Given the description of an element on the screen output the (x, y) to click on. 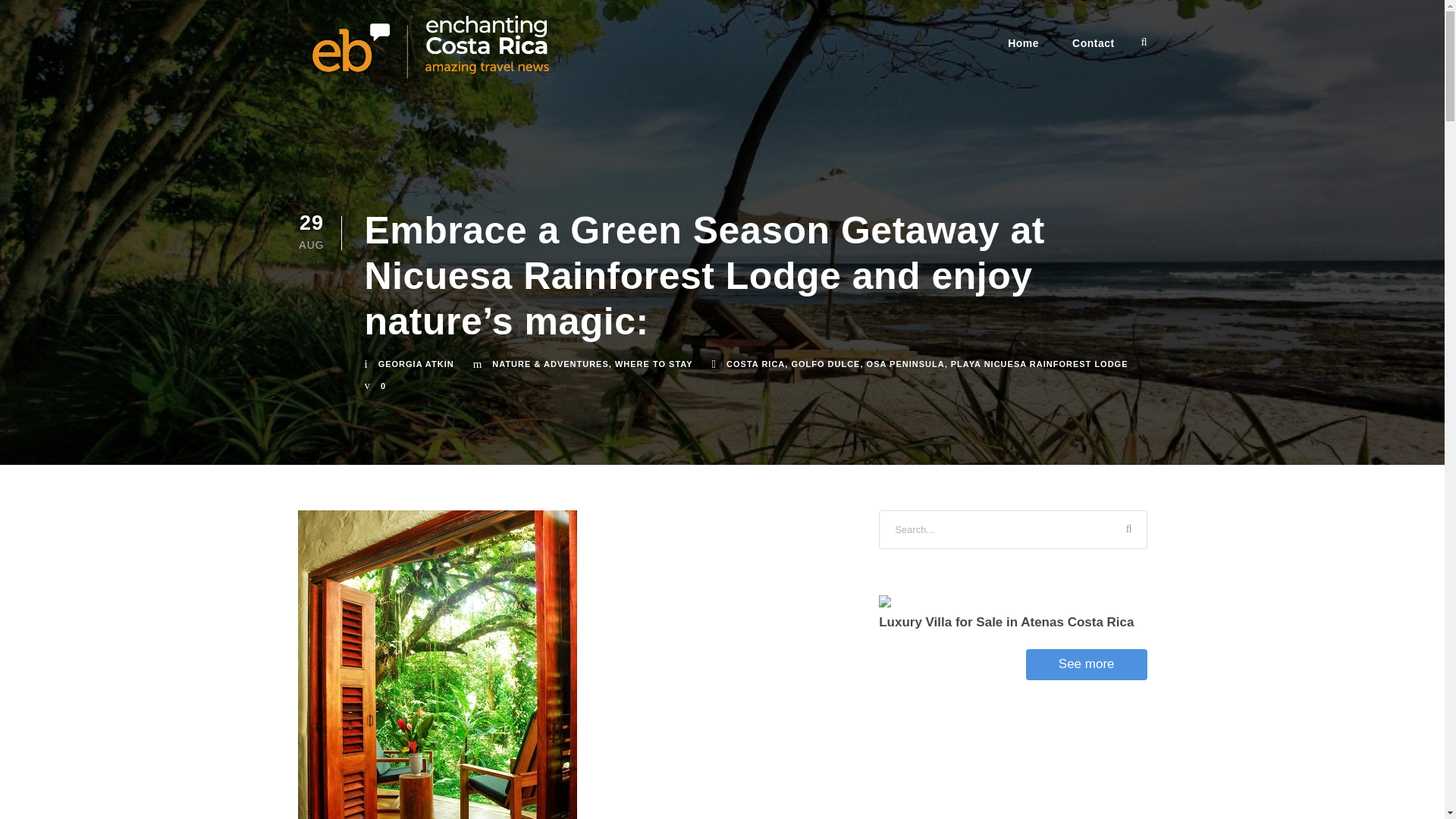
Posts by Georgia Atkin (416, 363)
GOLFO DULCE (825, 363)
GEORGIA ATKIN (416, 363)
PLAYA NICUESA RAINFOREST LODGE (1039, 363)
OSA PENINSULA (905, 363)
Advertisement (1013, 759)
Nicuesa Lodge bungalow porch (436, 664)
COSTA RICA (755, 363)
logo-cr-orange (429, 46)
WHERE TO STAY (653, 363)
